Given the description of an element on the screen output the (x, y) to click on. 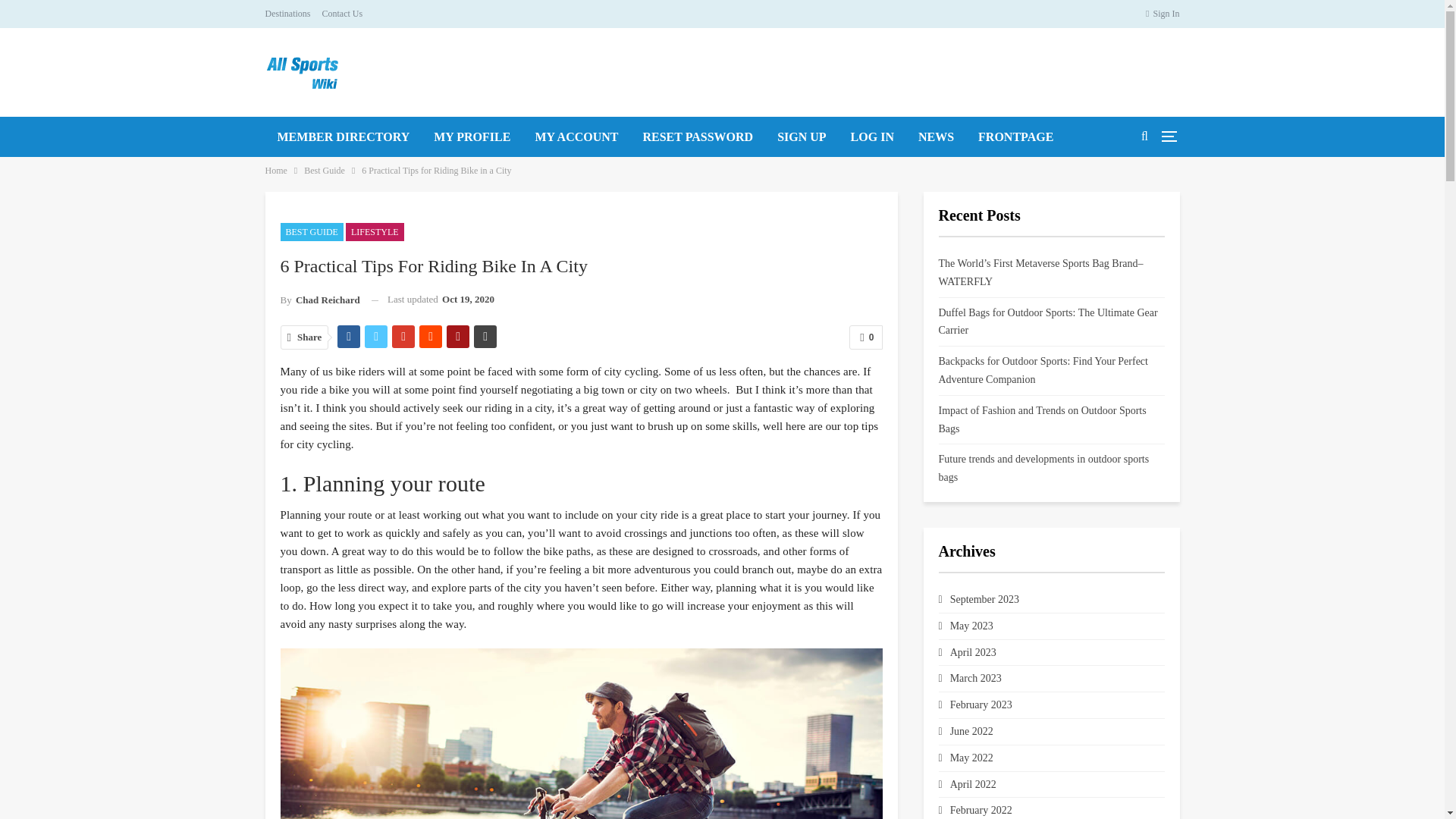
Sign In (1162, 13)
Best Guide (324, 170)
Contact Us (341, 13)
SIGN UP (801, 137)
Browse Author Articles (320, 299)
MY PROFILE (472, 137)
Destinations (287, 13)
FRONTPAGE (1015, 137)
By Chad Reichard (320, 299)
LOG IN (871, 137)
